Given the description of an element on the screen output the (x, y) to click on. 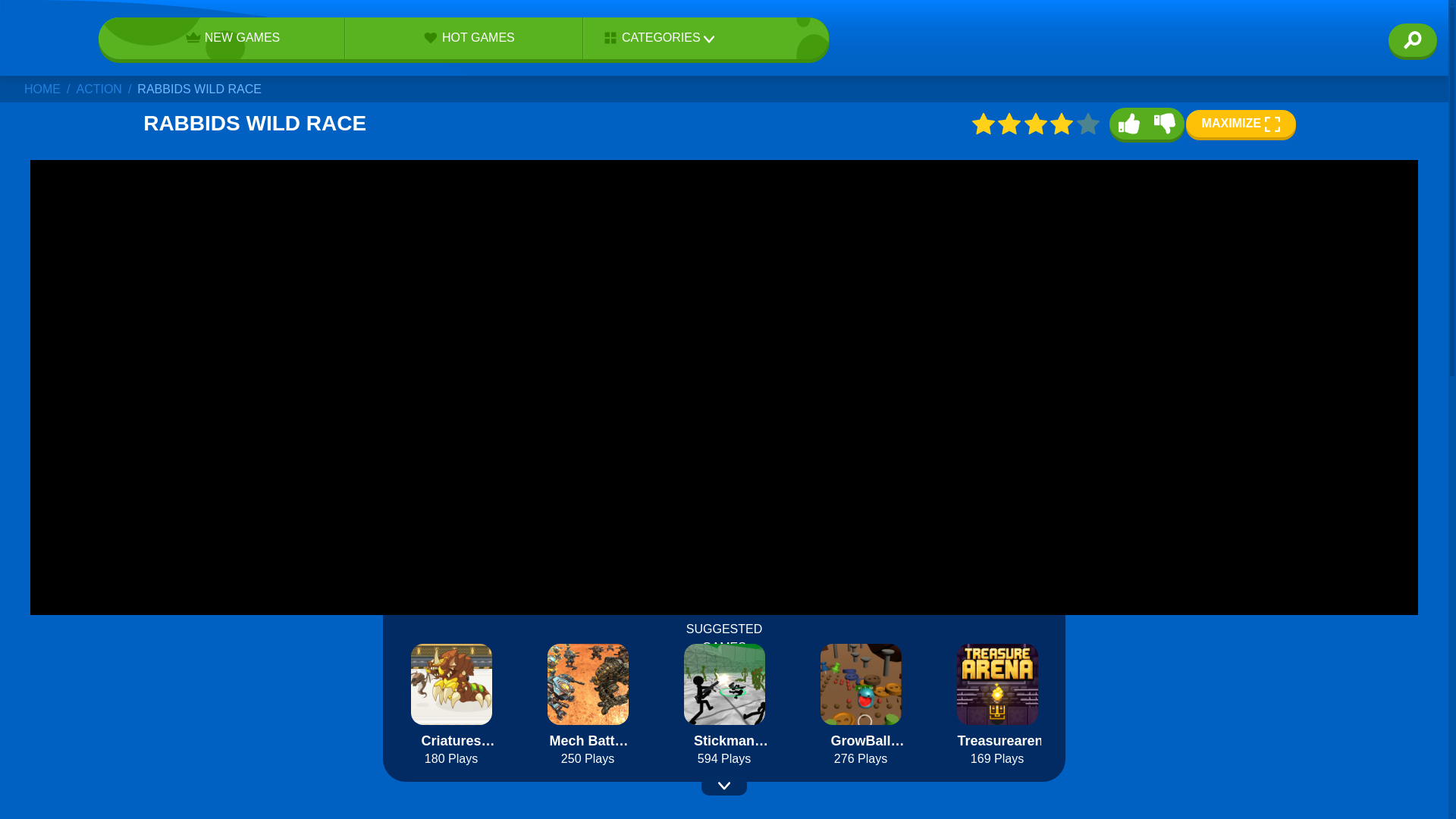
IO Games (42, 38)
250 (587, 759)
Criatures Defense (451, 739)
Stickman Zombie 3D (724, 739)
594 (724, 759)
ACTION (97, 88)
CATEGORIES (653, 38)
MAXIMIZE (1240, 123)
HOME (42, 88)
HOT GAMES (464, 37)
MAXIMIZE (1240, 123)
NEW GAMES (228, 37)
Dislike (1164, 123)
Mech Battle Simulator (587, 739)
